Given the description of an element on the screen output the (x, y) to click on. 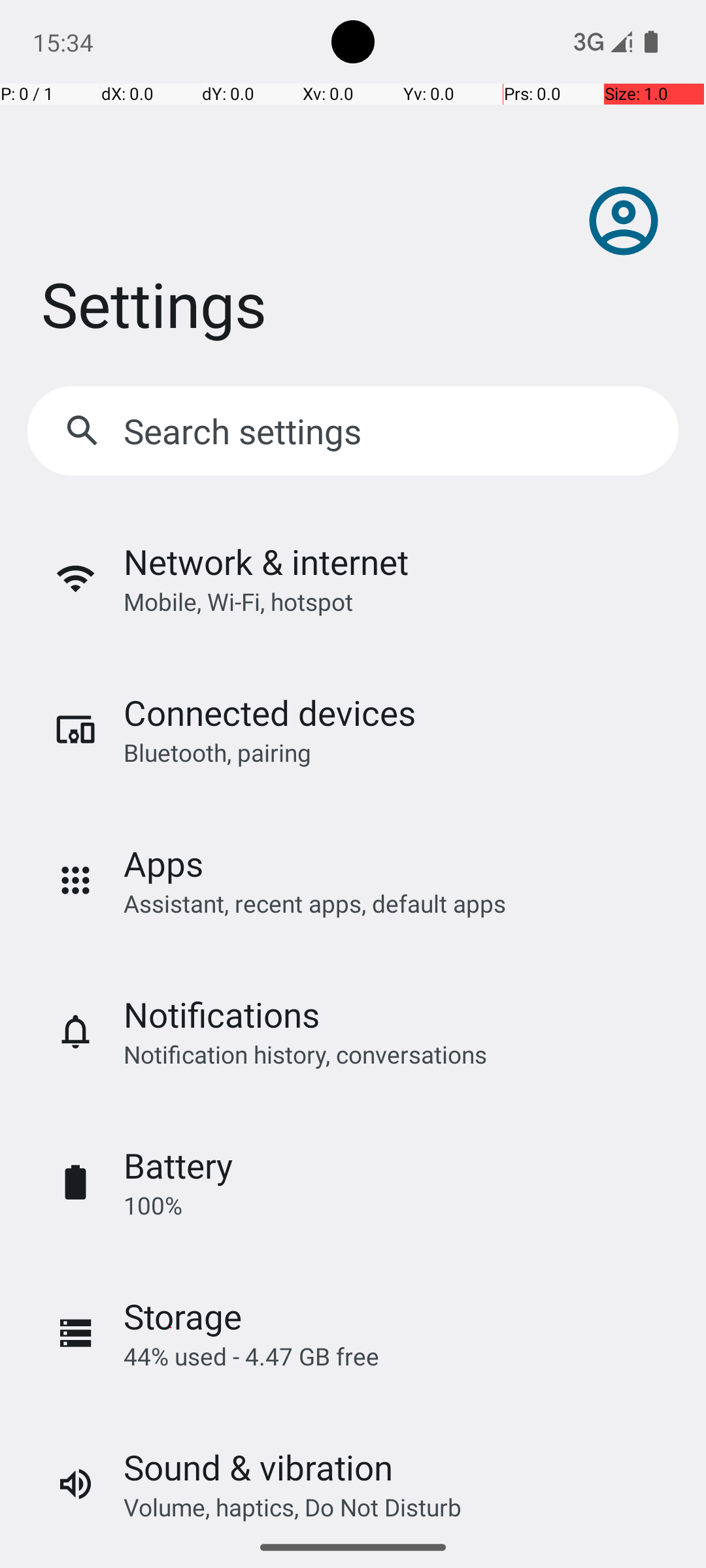
44% used - 4.47 GB free Element type: android.widget.TextView (251, 1355)
